Given the description of an element on the screen output the (x, y) to click on. 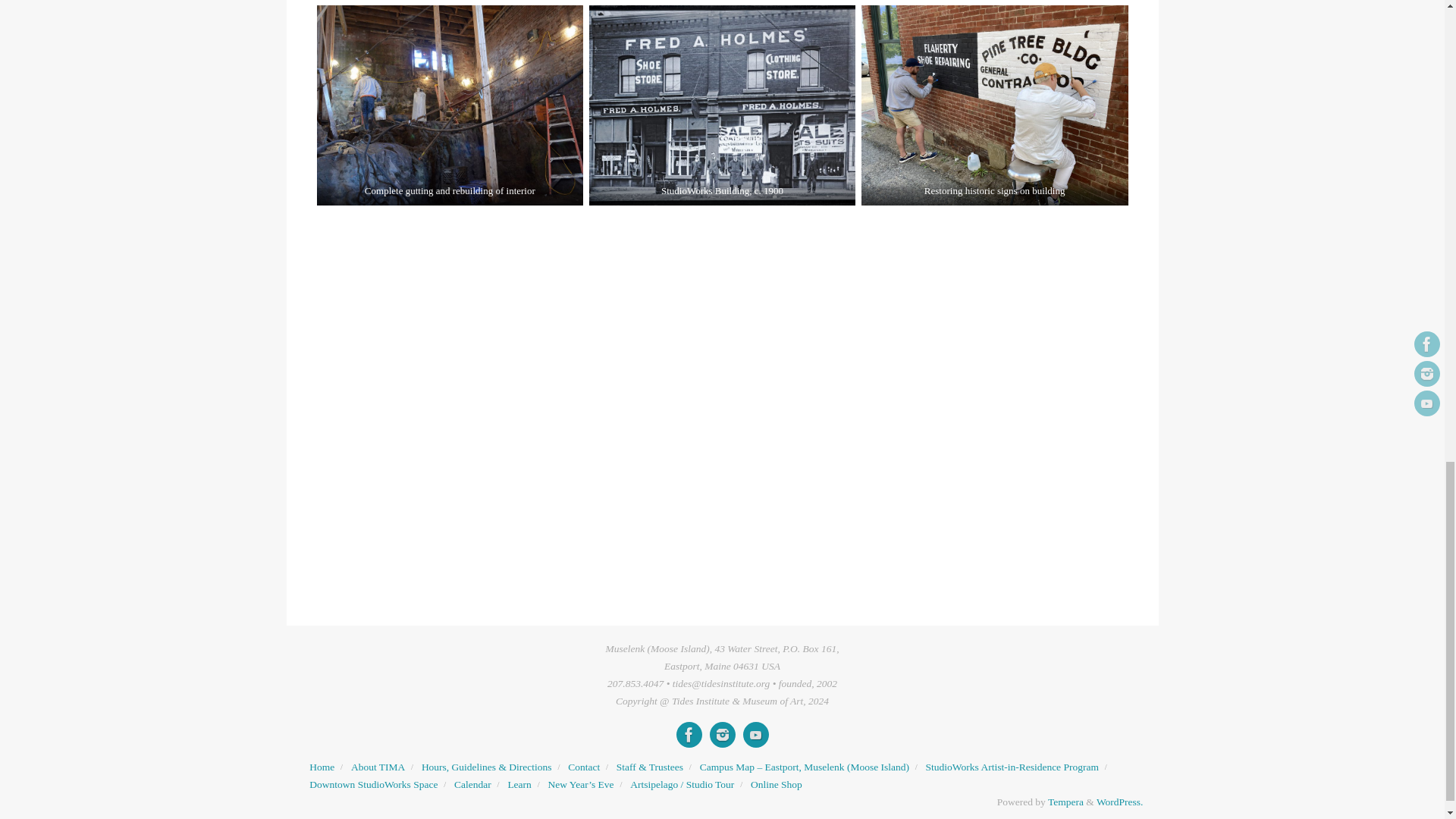
Semantic Personal Publishing Platform (1119, 801)
Tempera Theme by Cryout Creations (1065, 801)
StudioWorks Facility (373, 784)
Instagram (722, 734)
Facebook (689, 734)
YouTube (755, 734)
